Given the description of an element on the screen output the (x, y) to click on. 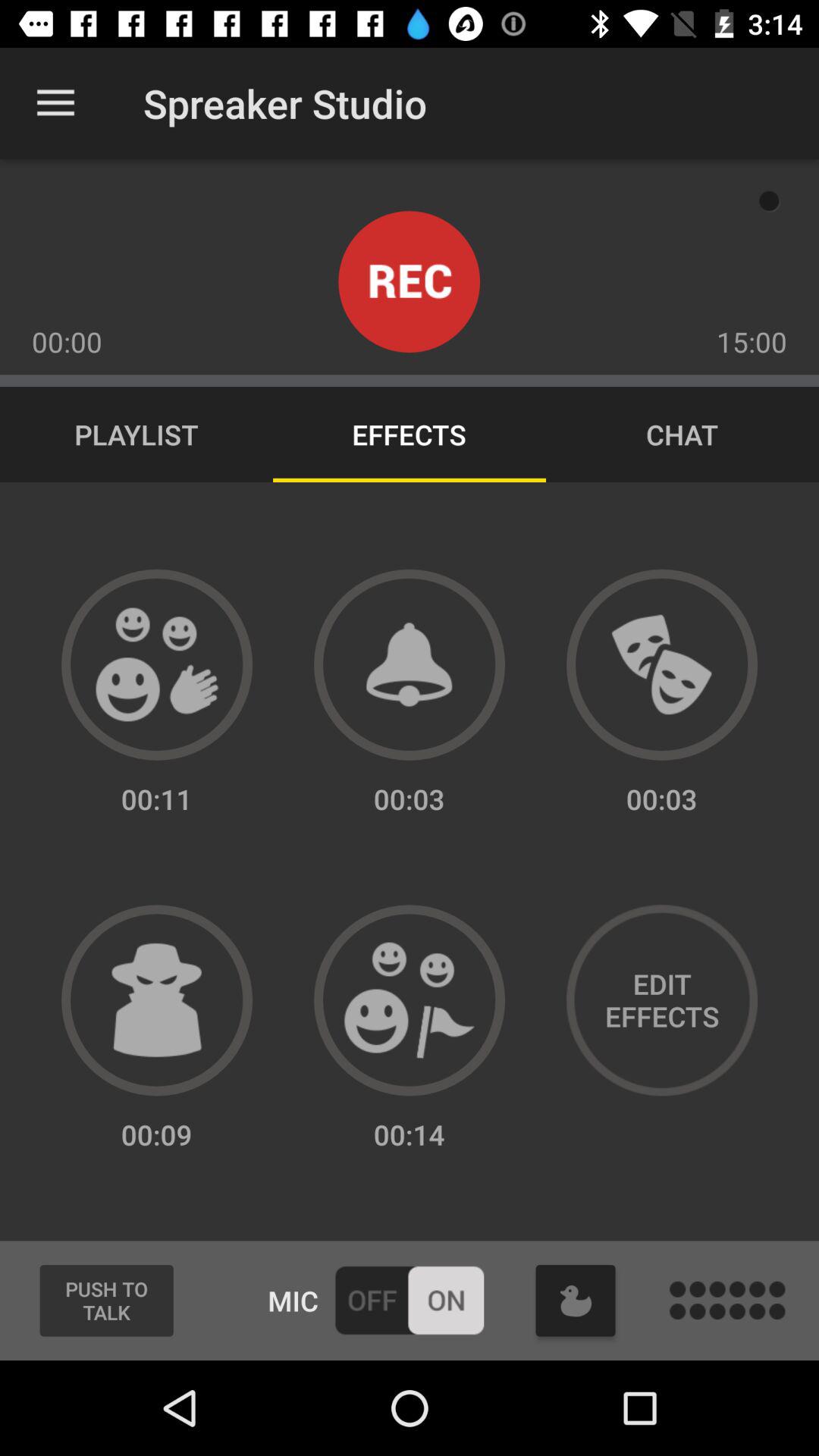
toggle mic option (409, 1300)
